Given the description of an element on the screen output the (x, y) to click on. 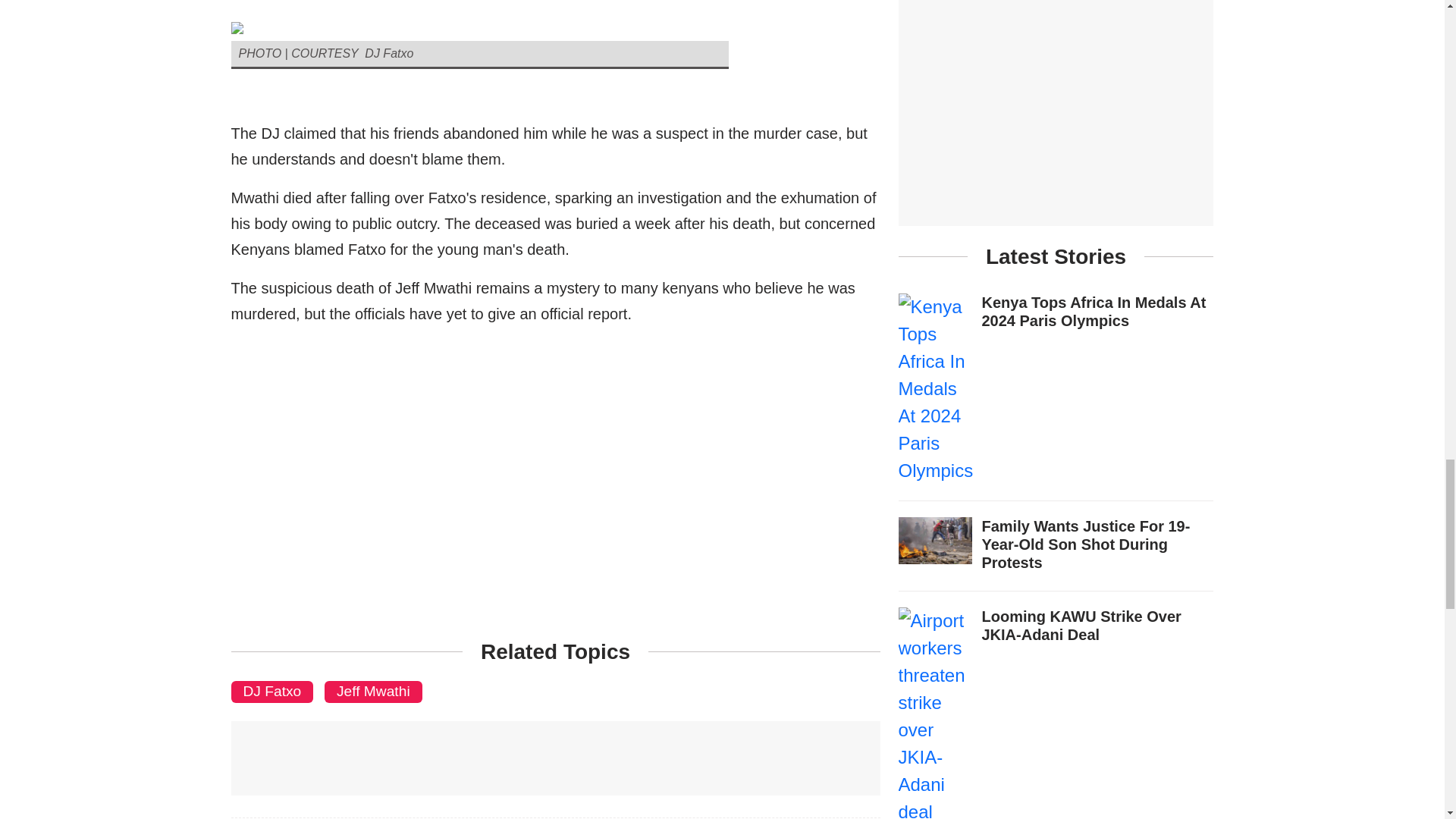
DJ Fatxo (272, 691)
Jeff Mwathi (373, 691)
Topic: Jeff Mwathi (373, 691)
Topic: DJ Fatxo (272, 691)
